Given the description of an element on the screen output the (x, y) to click on. 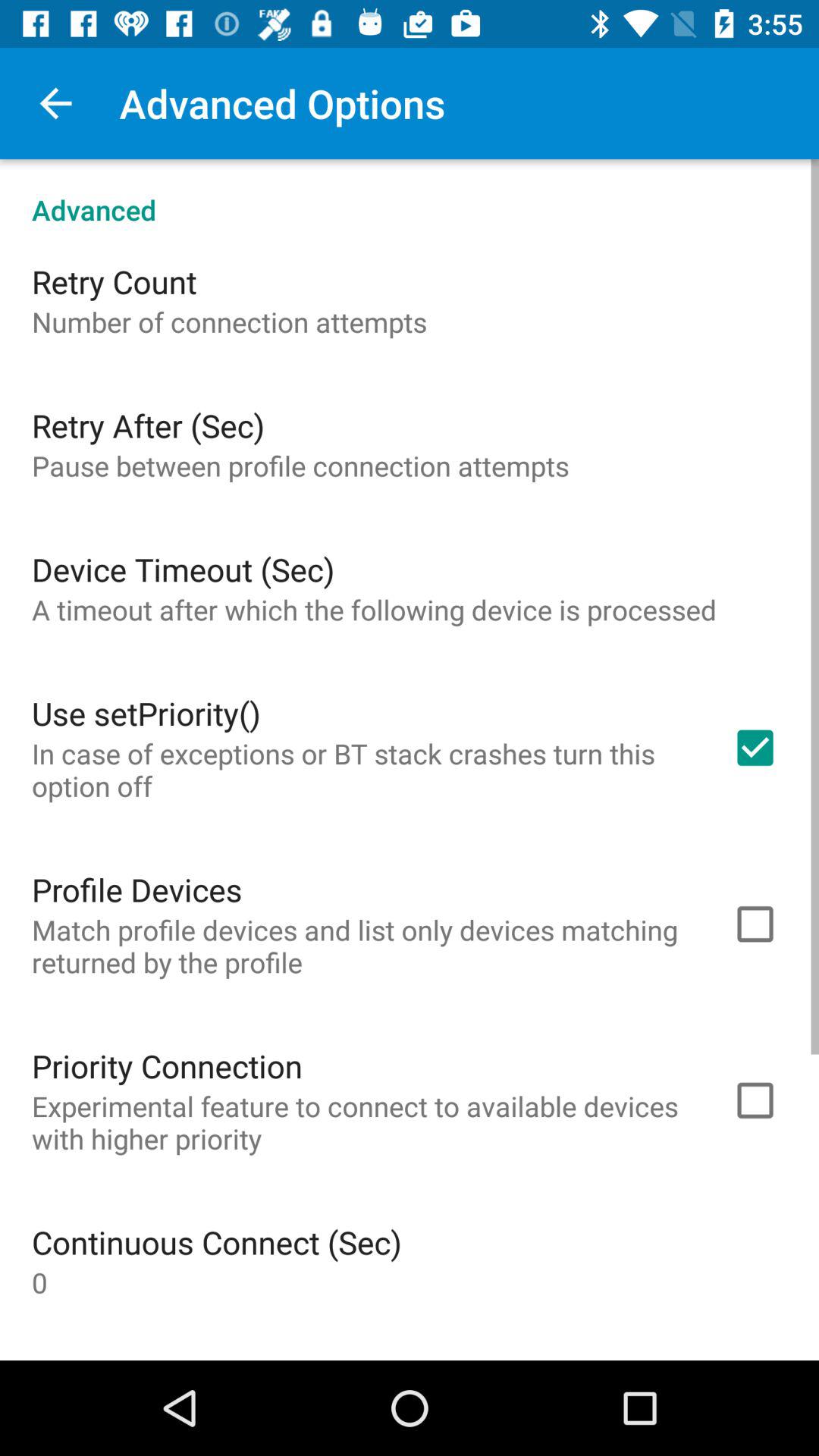
go to previous (55, 103)
